Given the description of an element on the screen output the (x, y) to click on. 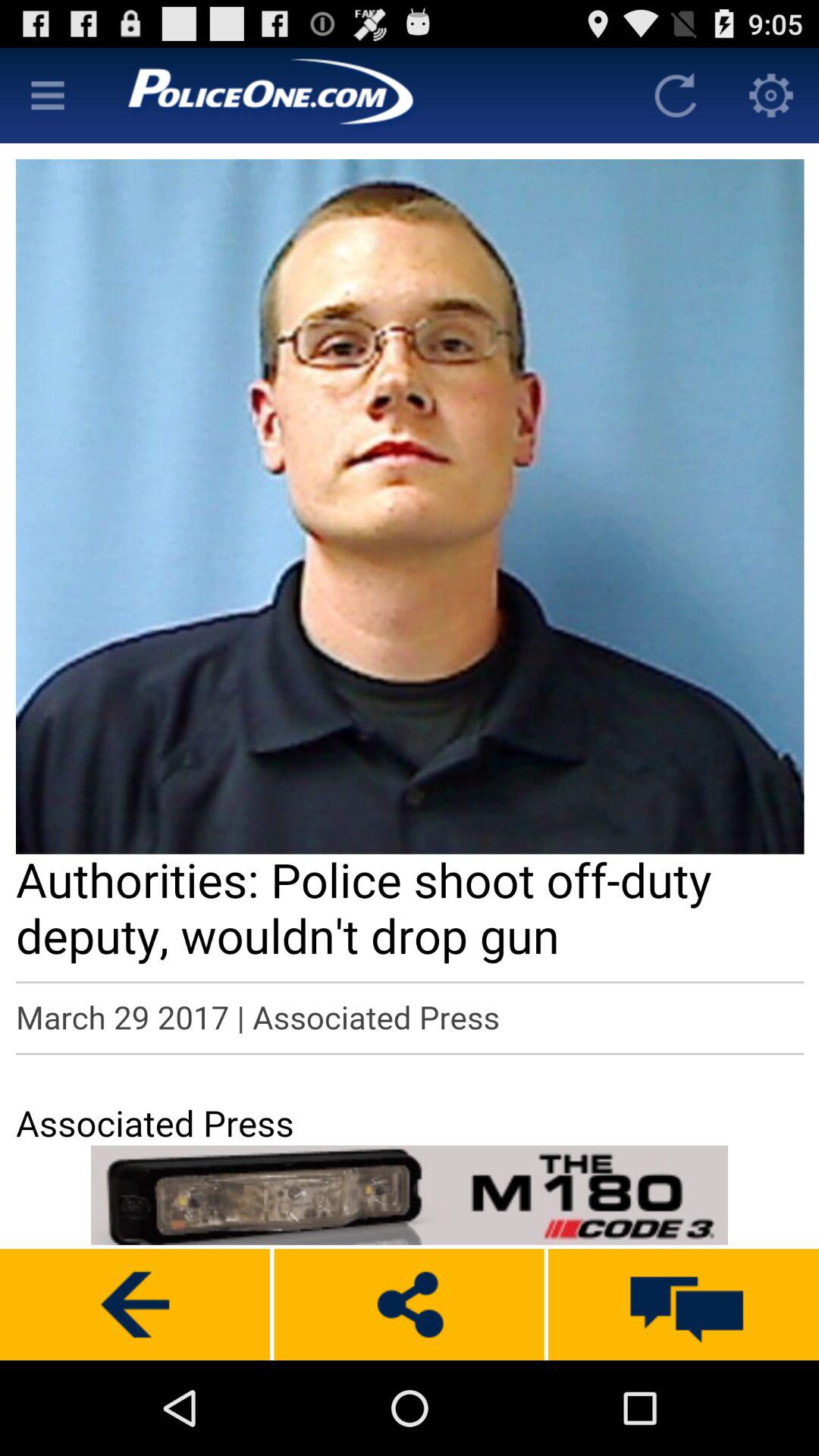
refresh (675, 95)
